Given the description of an element on the screen output the (x, y) to click on. 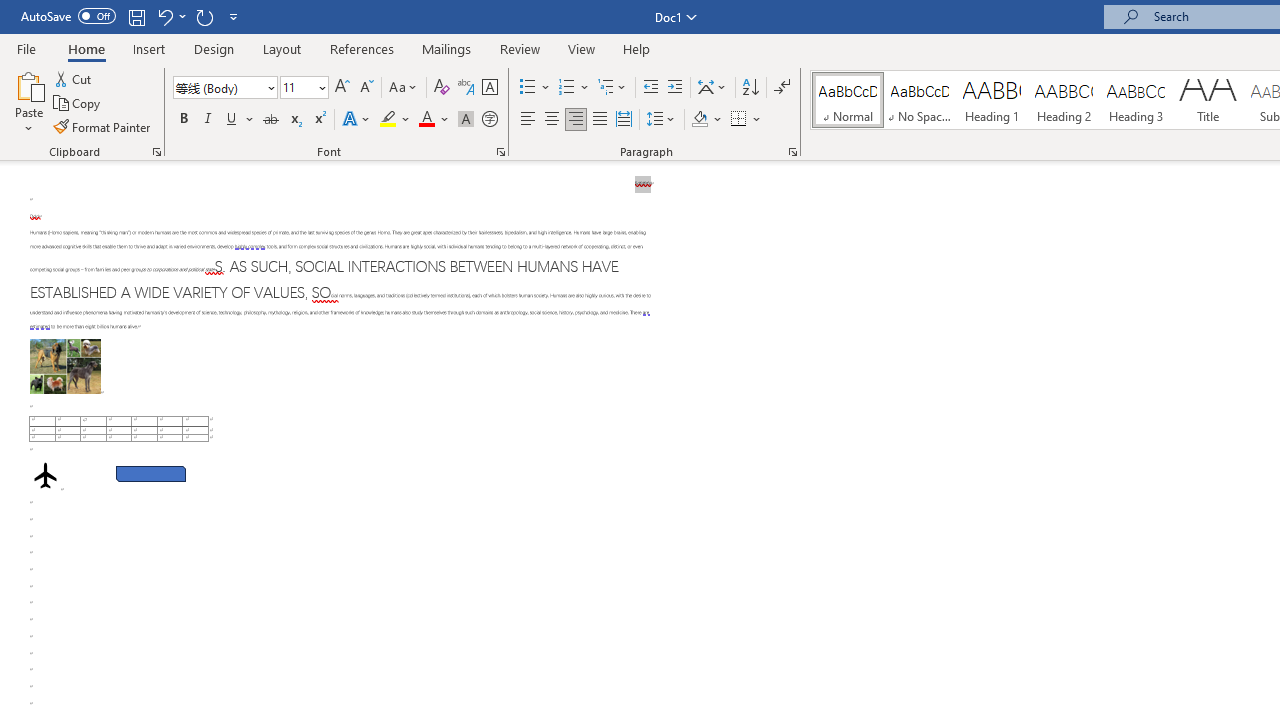
Morphological variation in six dogs (65, 366)
Font Color Red (426, 119)
